Given the description of an element on the screen output the (x, y) to click on. 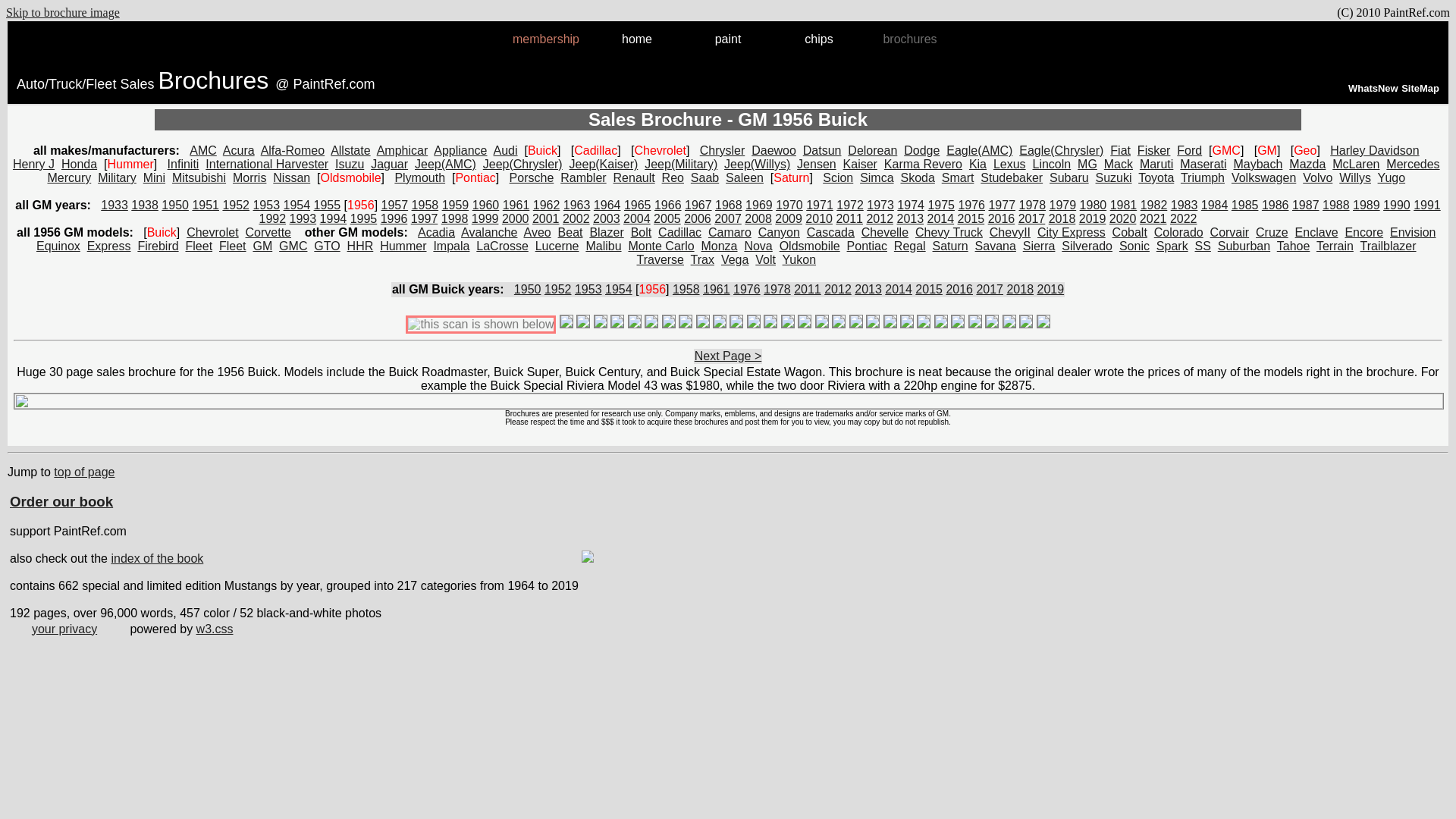
Jensen (815, 164)
Isuzu (349, 164)
GM Chevrolet sales brochure (212, 232)
PPG Ditzler and Dupont codes (727, 38)
Chevrolet Chevelle sales brochure (884, 232)
home (636, 38)
Chevrolet Chevy Truck sales brochure (948, 232)
GMC Acadia sales brochure (435, 232)
Chrysler (722, 150)
Chevrolet Beat sales brochure (570, 232)
